Given the description of an element on the screen output the (x, y) to click on. 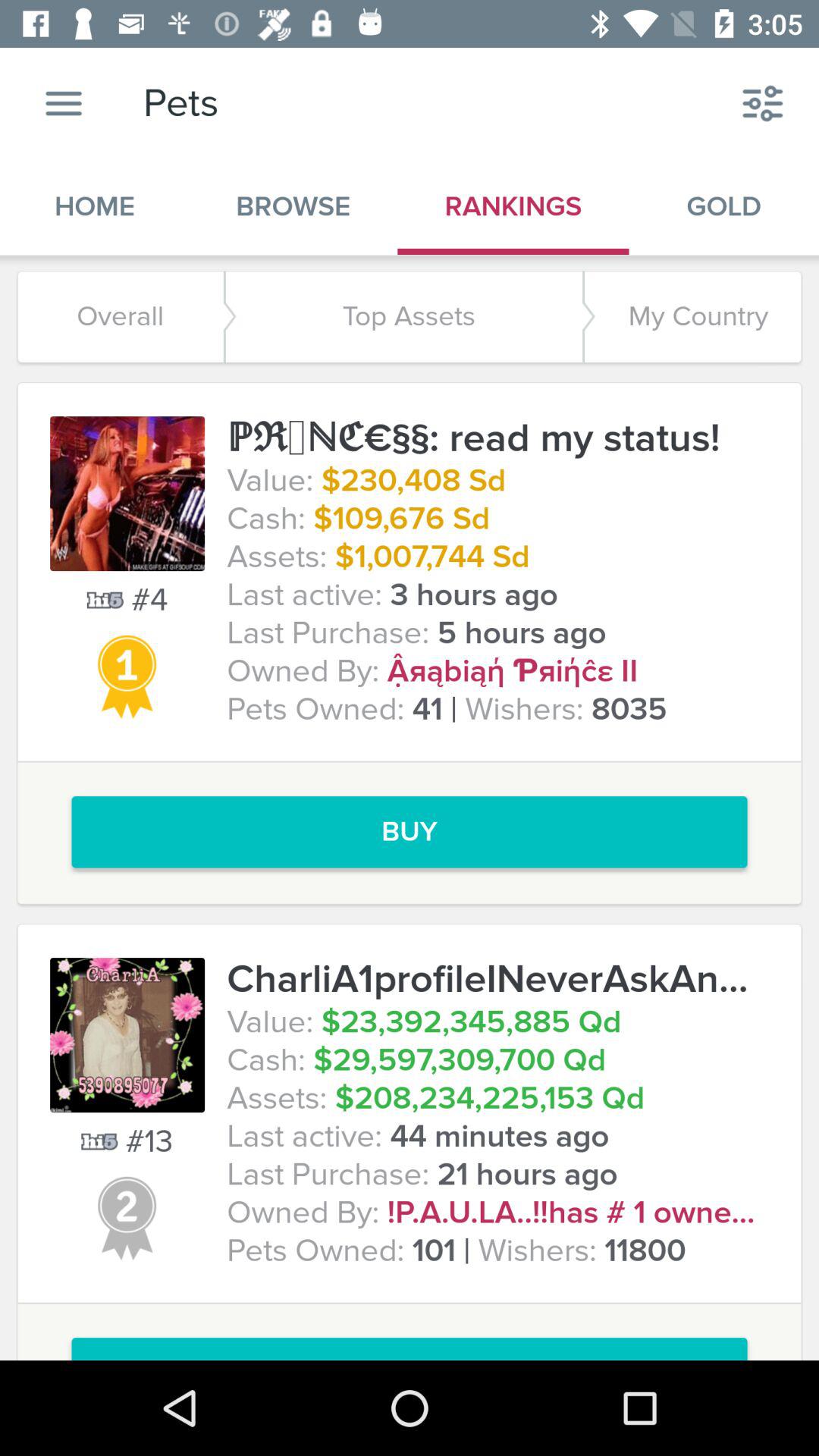
tap the item to the right of rankings icon (762, 103)
